Given the description of an element on the screen output the (x, y) to click on. 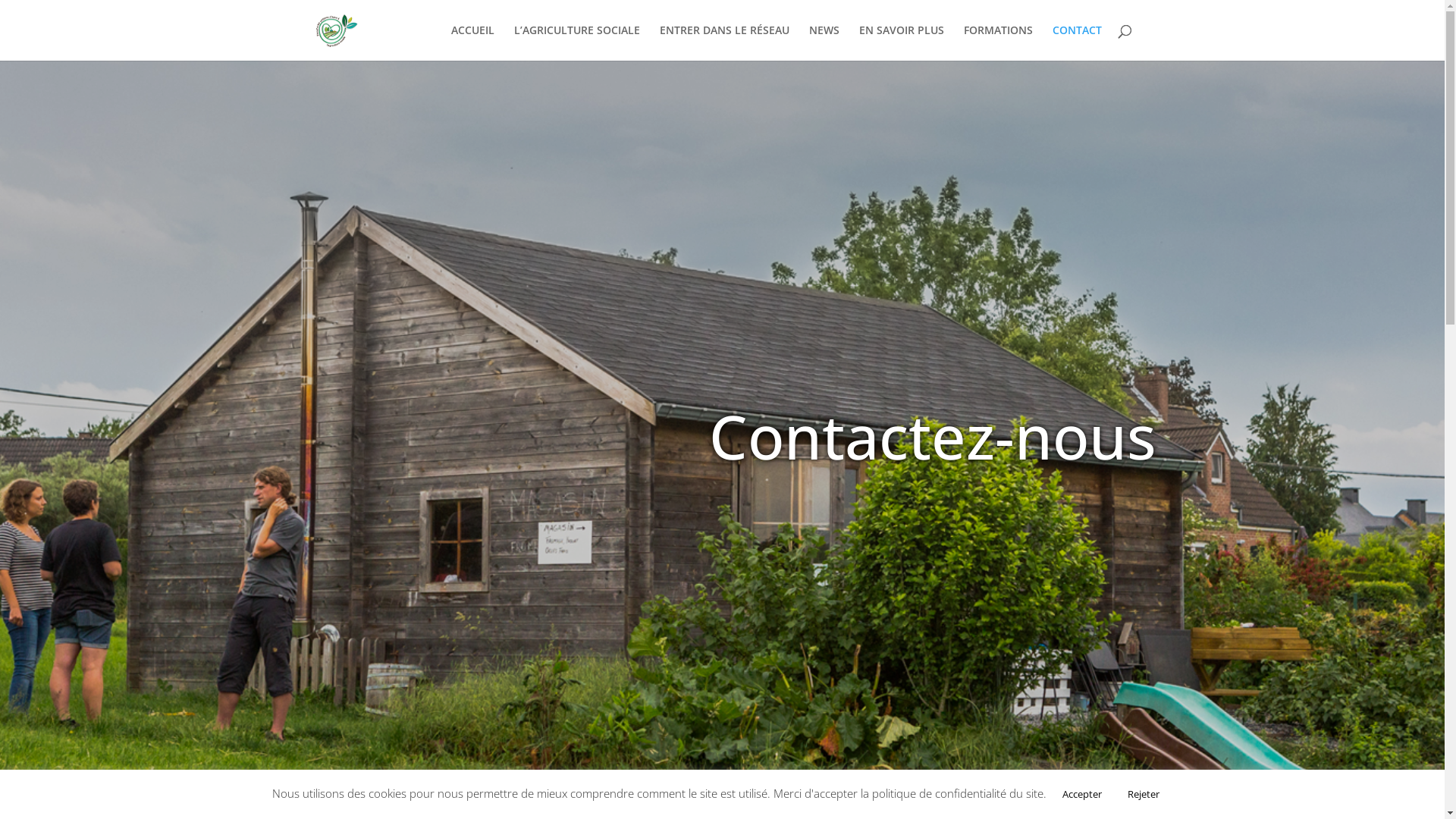
Rejeter Element type: text (1143, 794)
EN SAVOIR PLUS Element type: text (900, 42)
NEWS Element type: text (823, 42)
CONTACT Element type: text (1076, 42)
FORMATIONS Element type: text (997, 42)
Accepter Element type: text (1081, 794)
ACCUEIL Element type: text (471, 42)
